Given the description of an element on the screen output the (x, y) to click on. 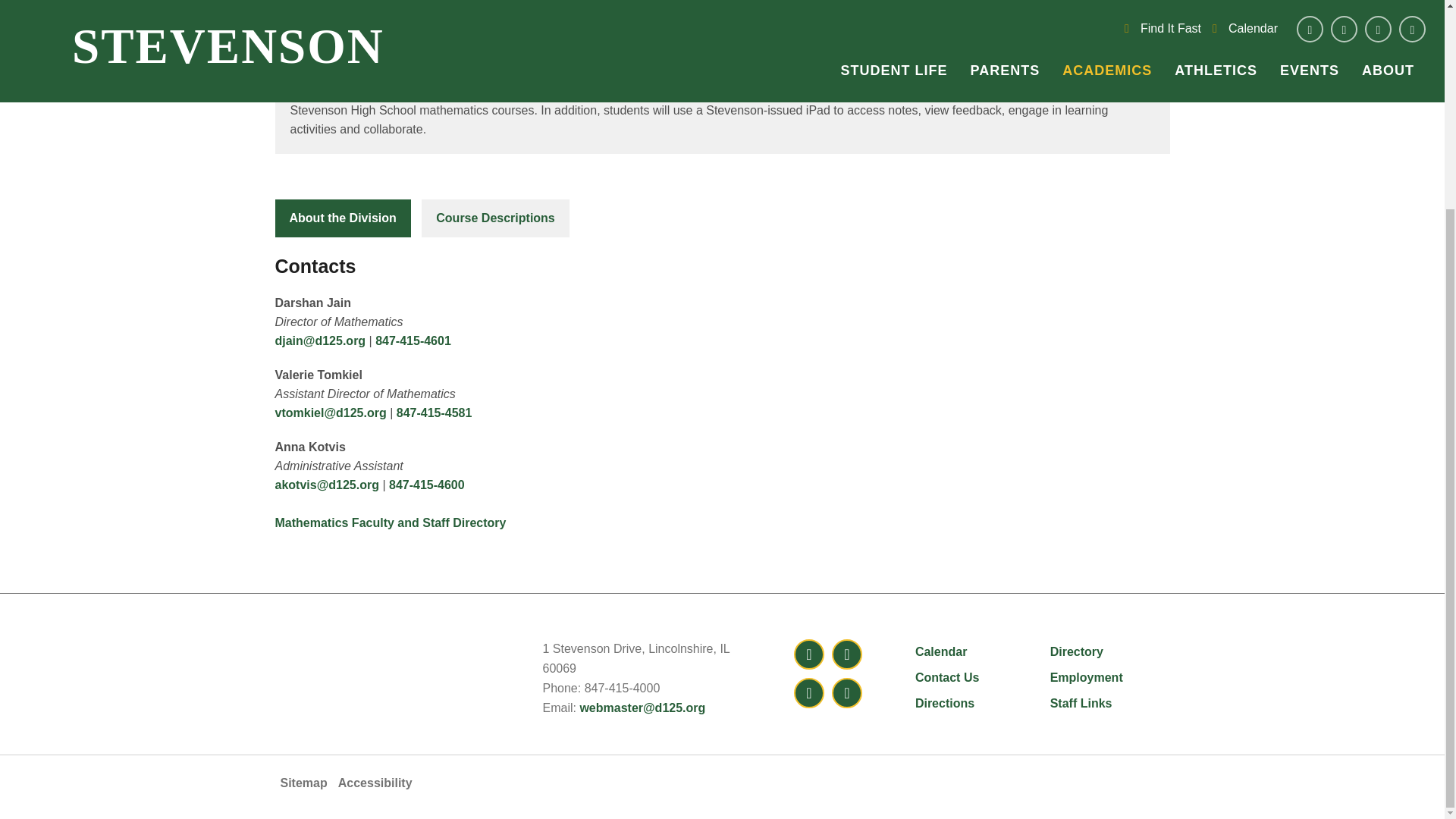
Powered by Finalsite opens in a new window (1118, 777)
